Given the description of an element on the screen output the (x, y) to click on. 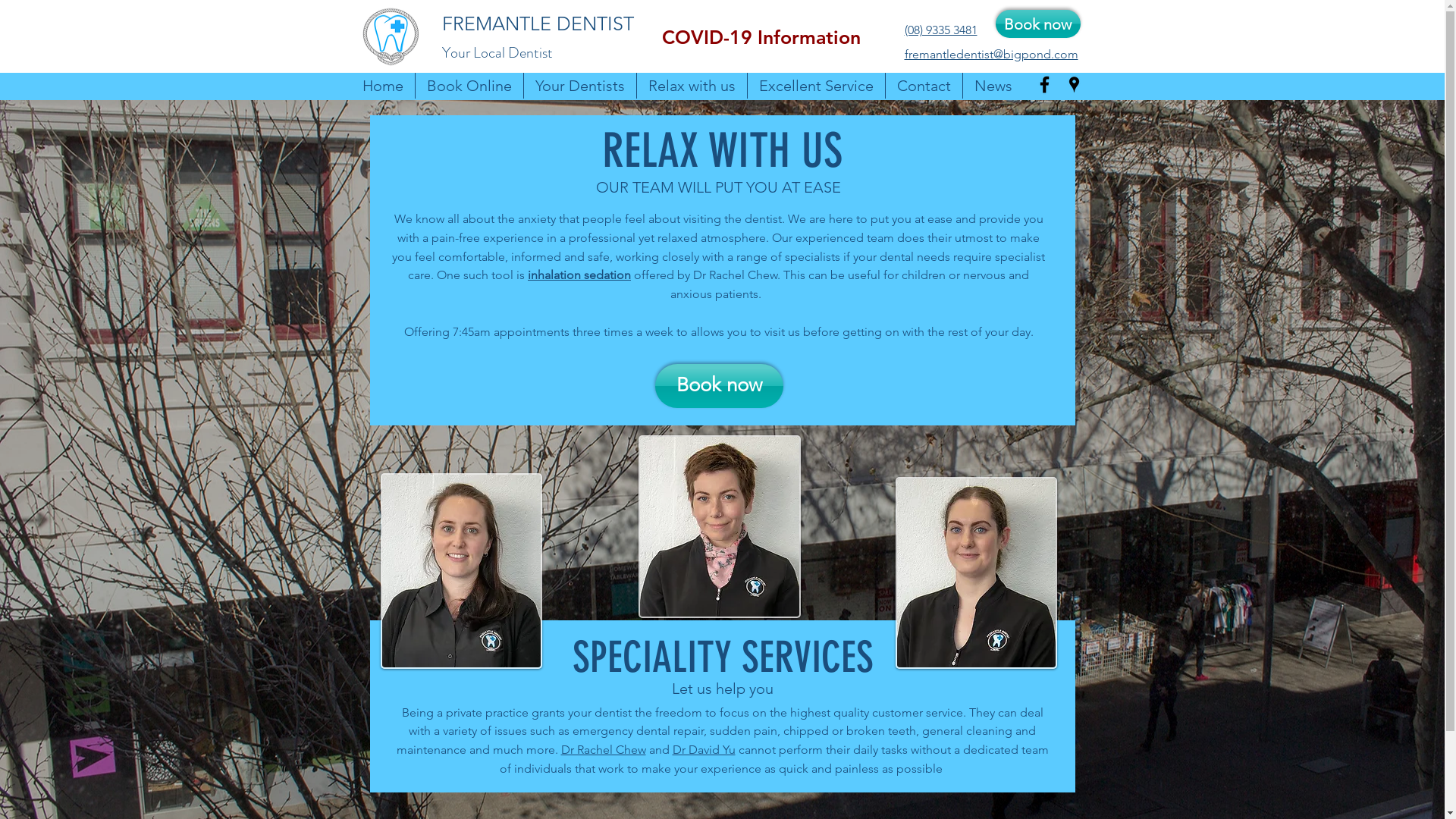
Your Fremantle Dental Assistant Element type: hover (975, 572)
Book now Element type: text (1036, 23)
Dr David Yu Element type: text (702, 749)
Jill- Your Fremantle Dental Assistant Element type: hover (719, 526)
COVID-19 Information Element type: text (760, 36)
(08) 9335 3481 Element type: text (939, 29)
Book Online Element type: text (469, 85)
Home Element type: text (382, 85)
fremantledentist@bigpond.com Element type: text (990, 54)
Relax with us Element type: text (691, 85)
Your Dentists Element type: text (579, 85)
Yu Cockerill, Your Fremantle Dentist- Administrator Element type: hover (461, 570)
inhalation sedation Element type: text (578, 274)
Excellent Service Element type: text (815, 85)
News Element type: text (993, 85)
Book now Element type: text (719, 385)
Contact Element type: text (923, 85)
Dr Rachel Chew Element type: text (603, 749)
